Given the description of an element on the screen output the (x, y) to click on. 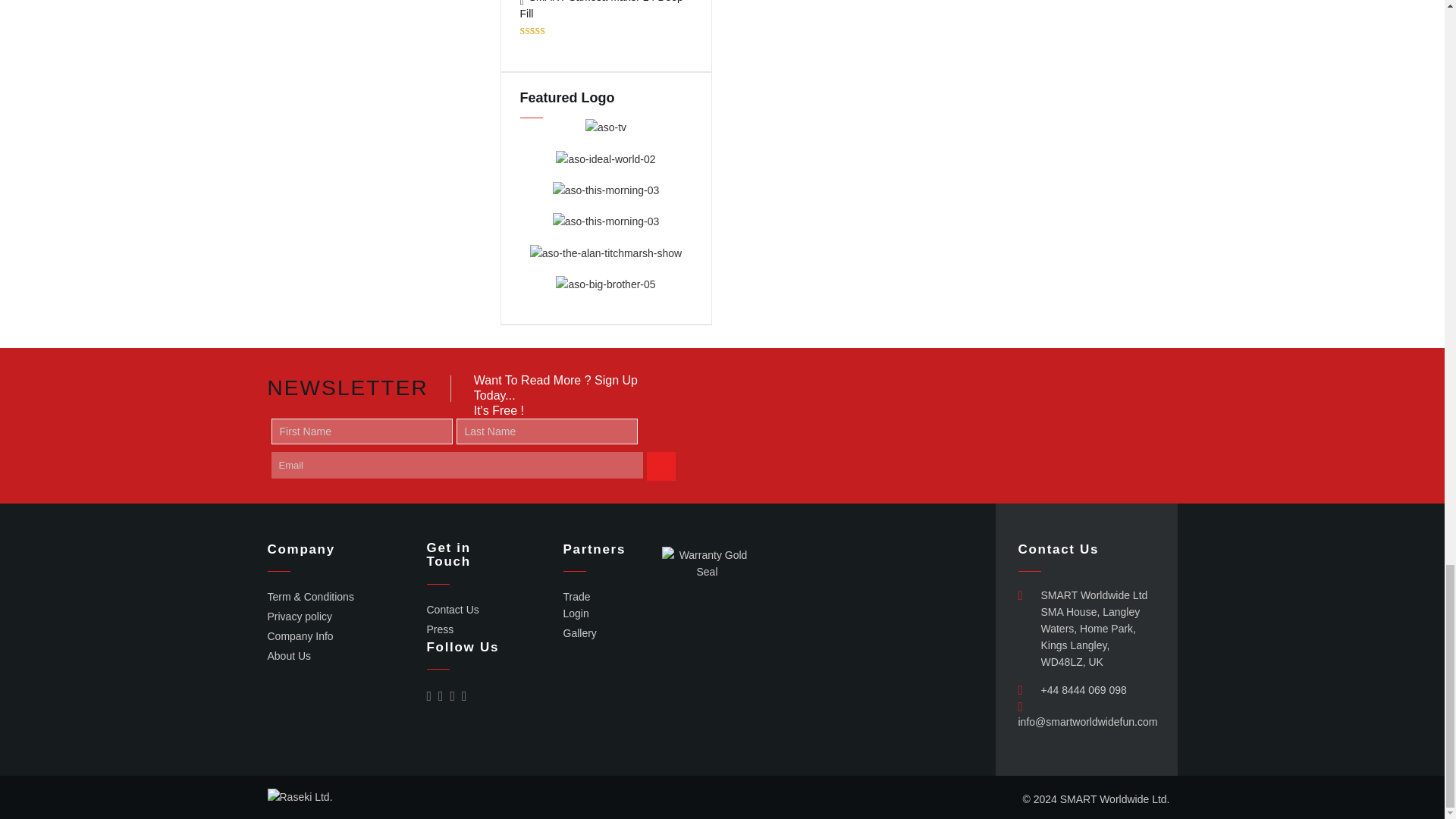
Subscribe (660, 466)
Company Info (299, 635)
Privacy policy (298, 616)
About Us (288, 655)
Contact Us (452, 609)
Smart (1114, 799)
SMART Samosa Maker 24 Deep Fill (606, 11)
Subscribe (660, 466)
